Given the description of an element on the screen output the (x, y) to click on. 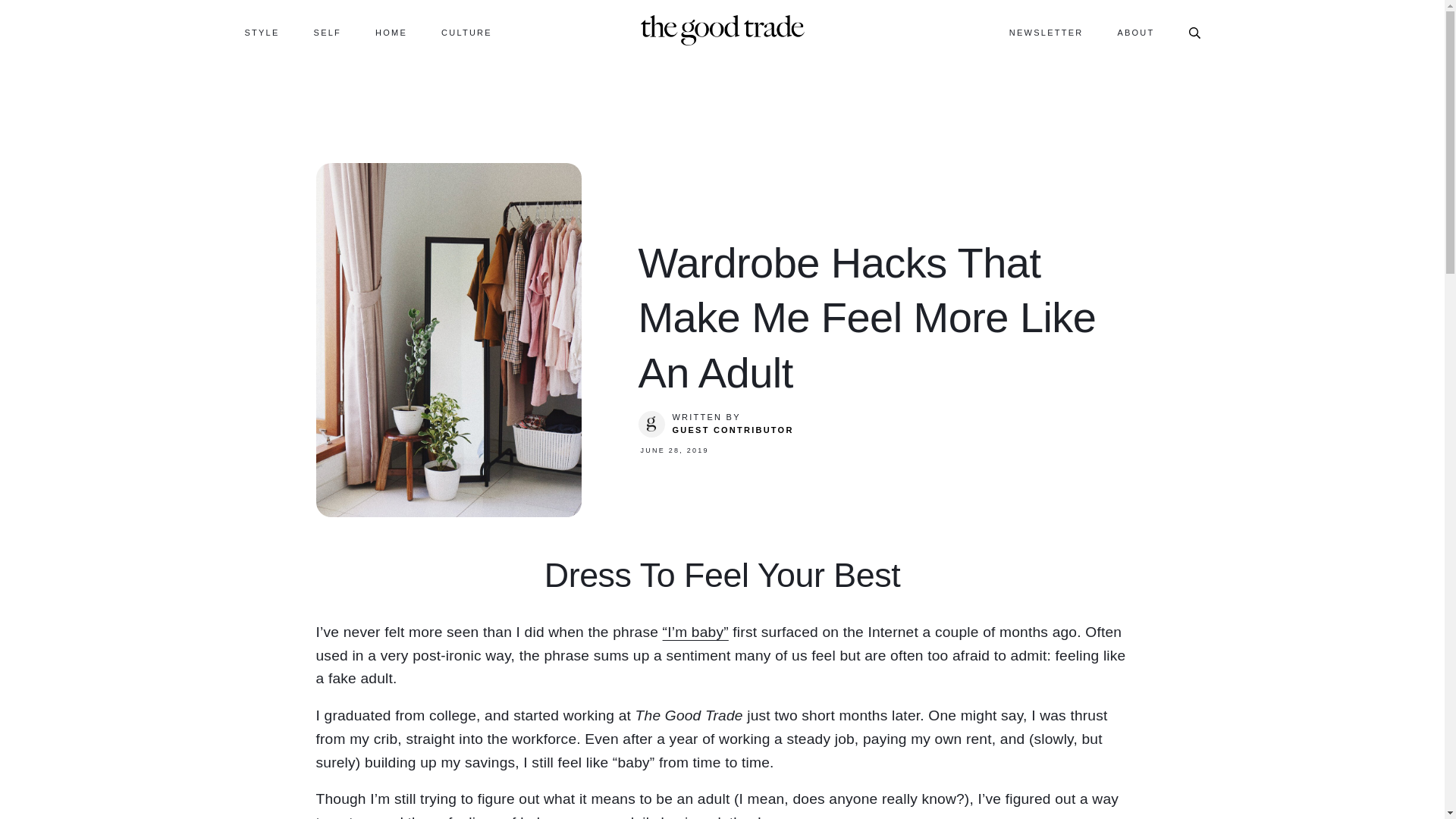
STYLE (261, 31)
HOME (391, 31)
Homepage (721, 28)
SELF (327, 31)
